Given the description of an element on the screen output the (x, y) to click on. 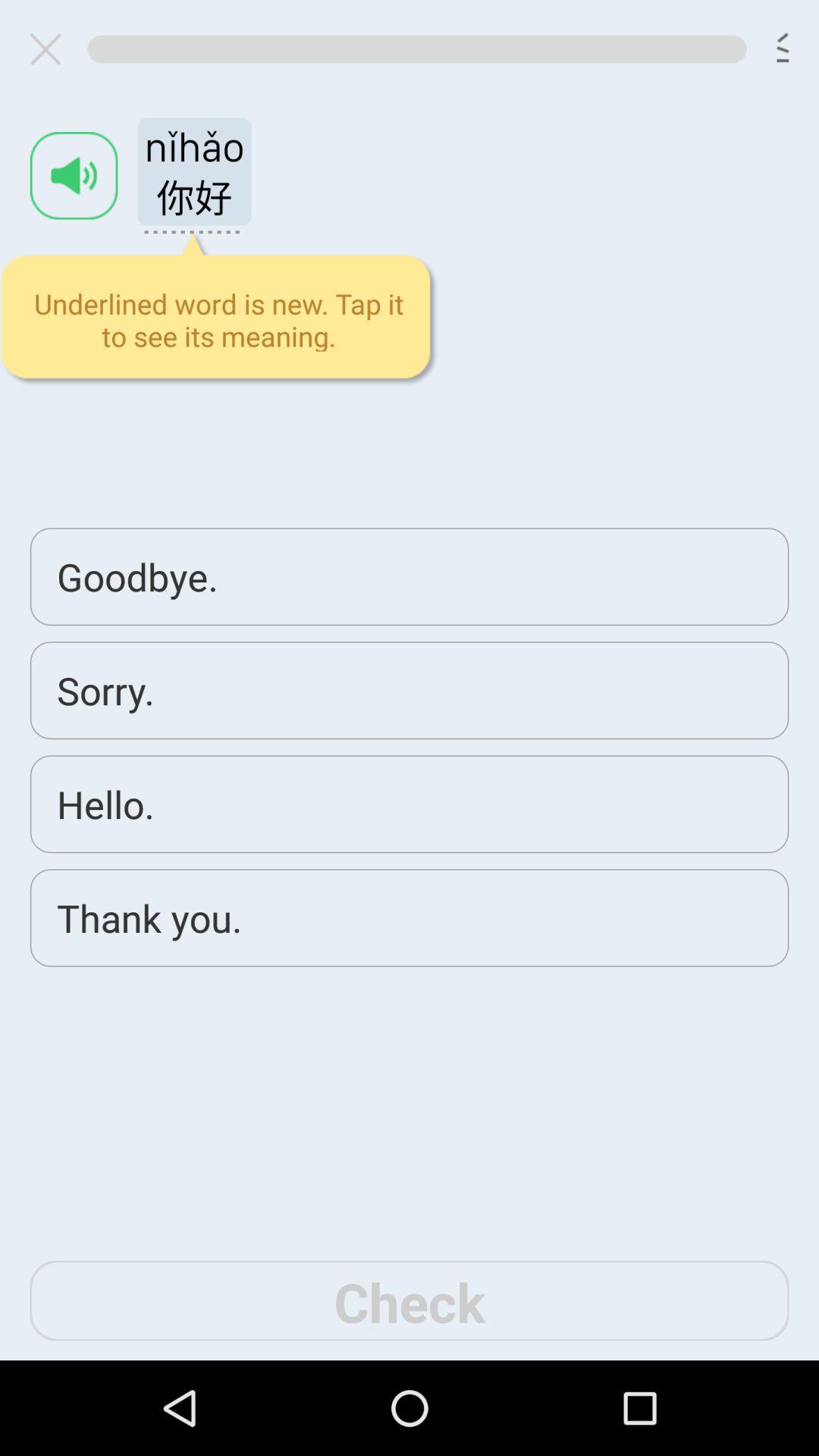
close section (51, 49)
